Given the description of an element on the screen output the (x, y) to click on. 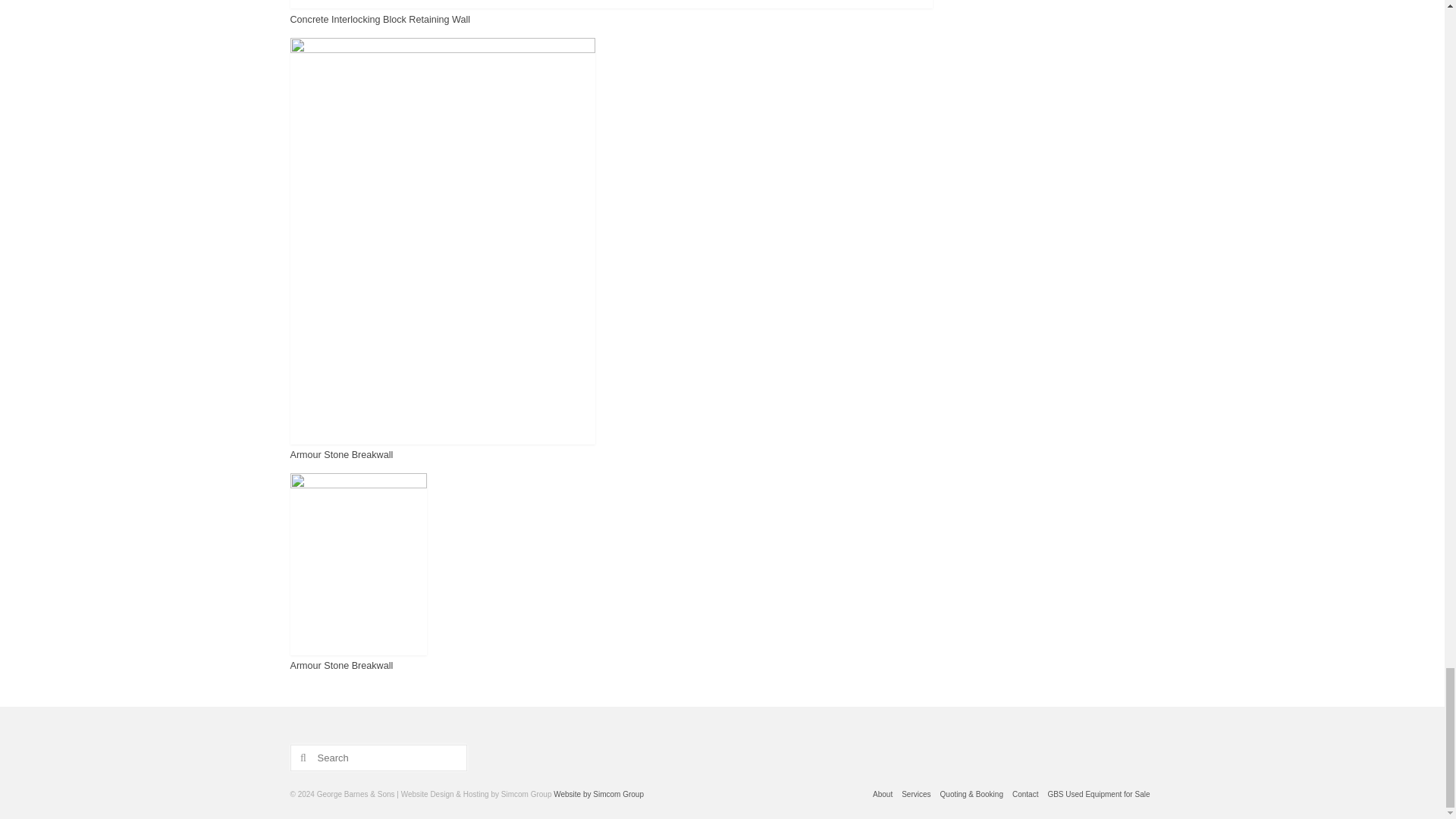
Contact (1024, 794)
Website by Simcom Group (598, 794)
About (881, 794)
Services (915, 794)
GBS Used Equipment for Sale (1098, 794)
